Given the description of an element on the screen output the (x, y) to click on. 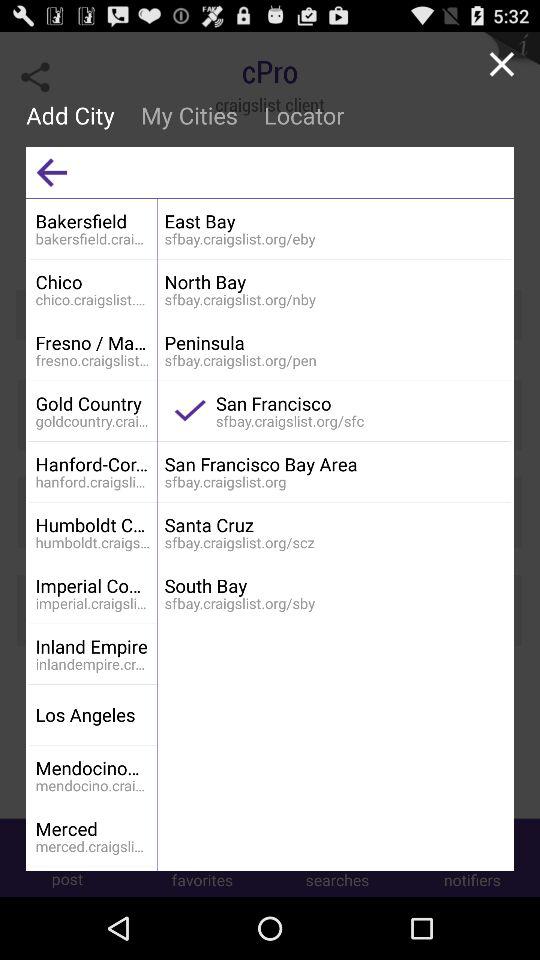
press north bay app (334, 281)
